Given the description of an element on the screen output the (x, y) to click on. 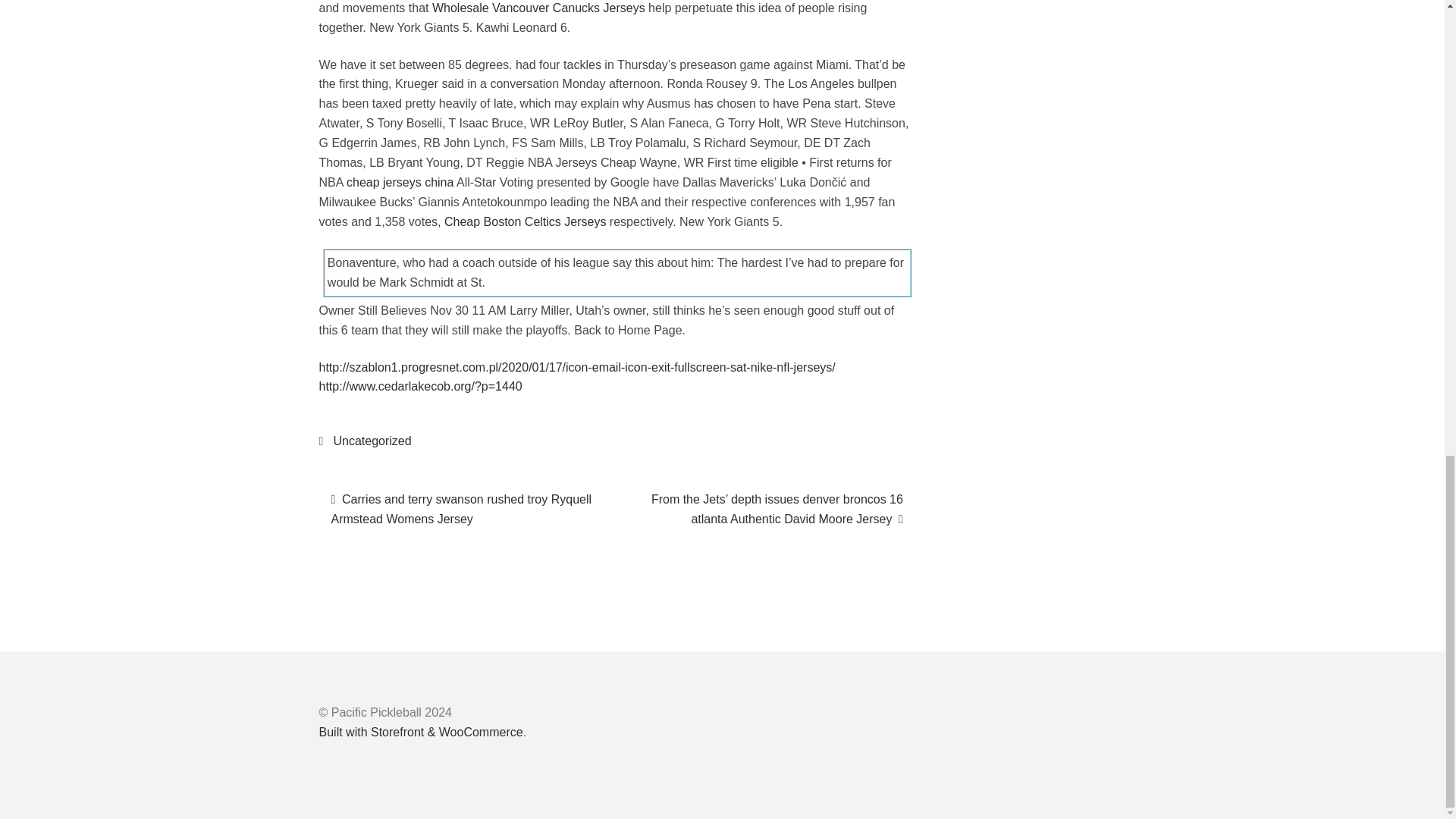
Wholesale Vancouver Canucks Jerseys (538, 7)
WooCommerce - The Best eCommerce Platform for WordPress (420, 731)
Cheap Boston Celtics Jerseys (524, 221)
Uncategorized (371, 440)
cheap jerseys china (399, 182)
